Given the description of an element on the screen output the (x, y) to click on. 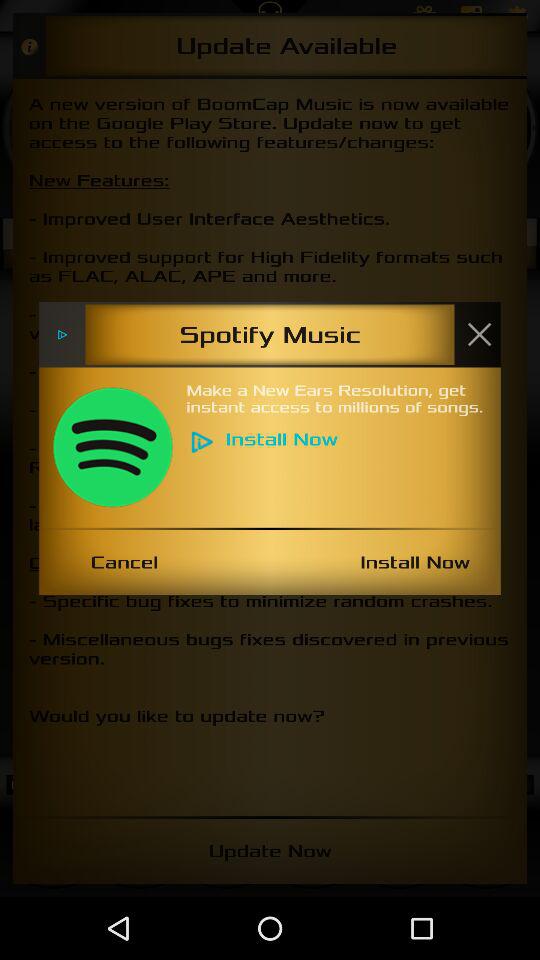
swipe to the cancel item (124, 562)
